Given the description of an element on the screen output the (x, y) to click on. 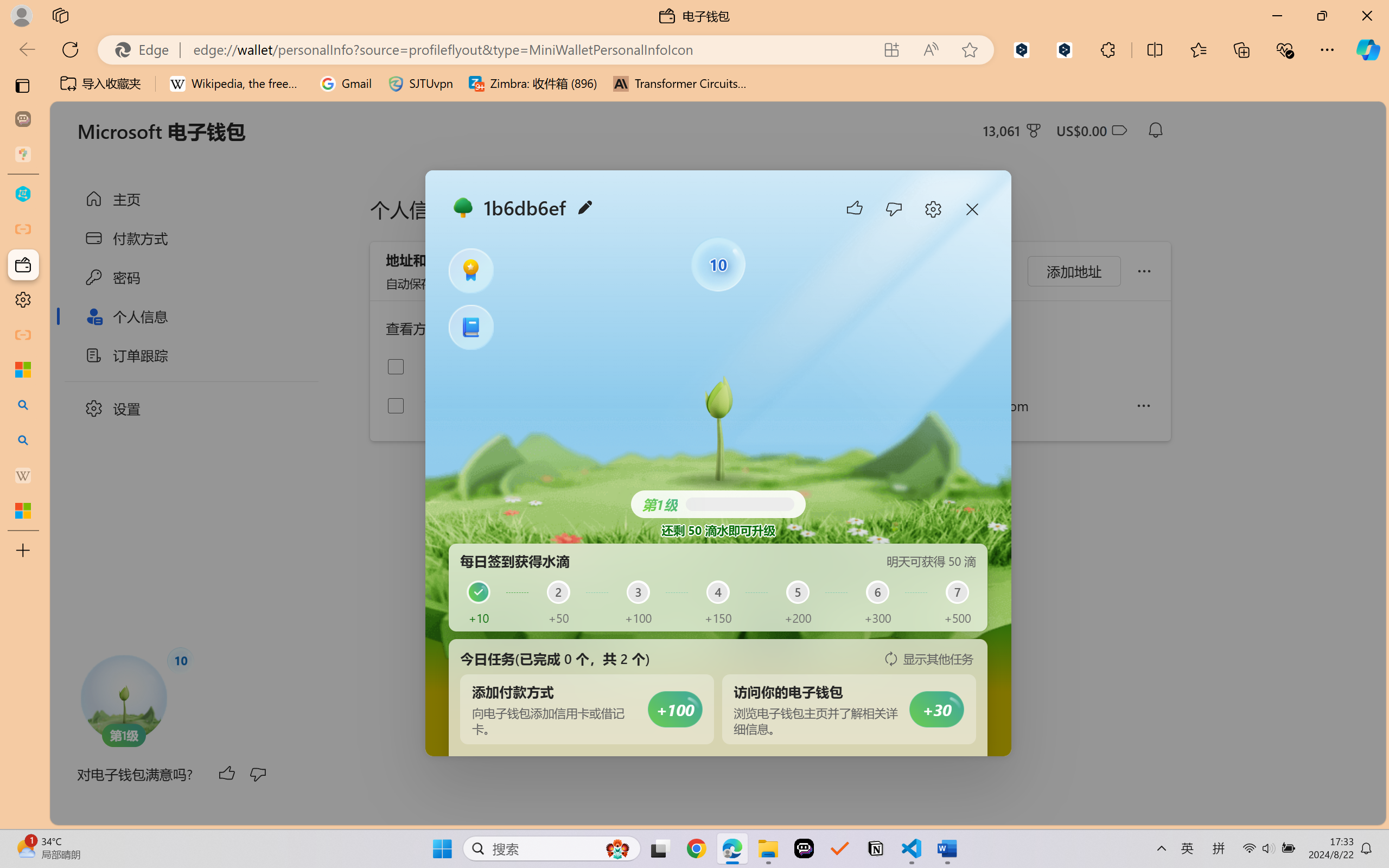
wangyian_dsw - DSW (22, 194)
Wikipedia, the free encyclopedia (236, 83)
Class: ___1lmltc5 f1agt3bx f12qytpq (1118, 130)
Edge (146, 49)
